Given the description of an element on the screen output the (x, y) to click on. 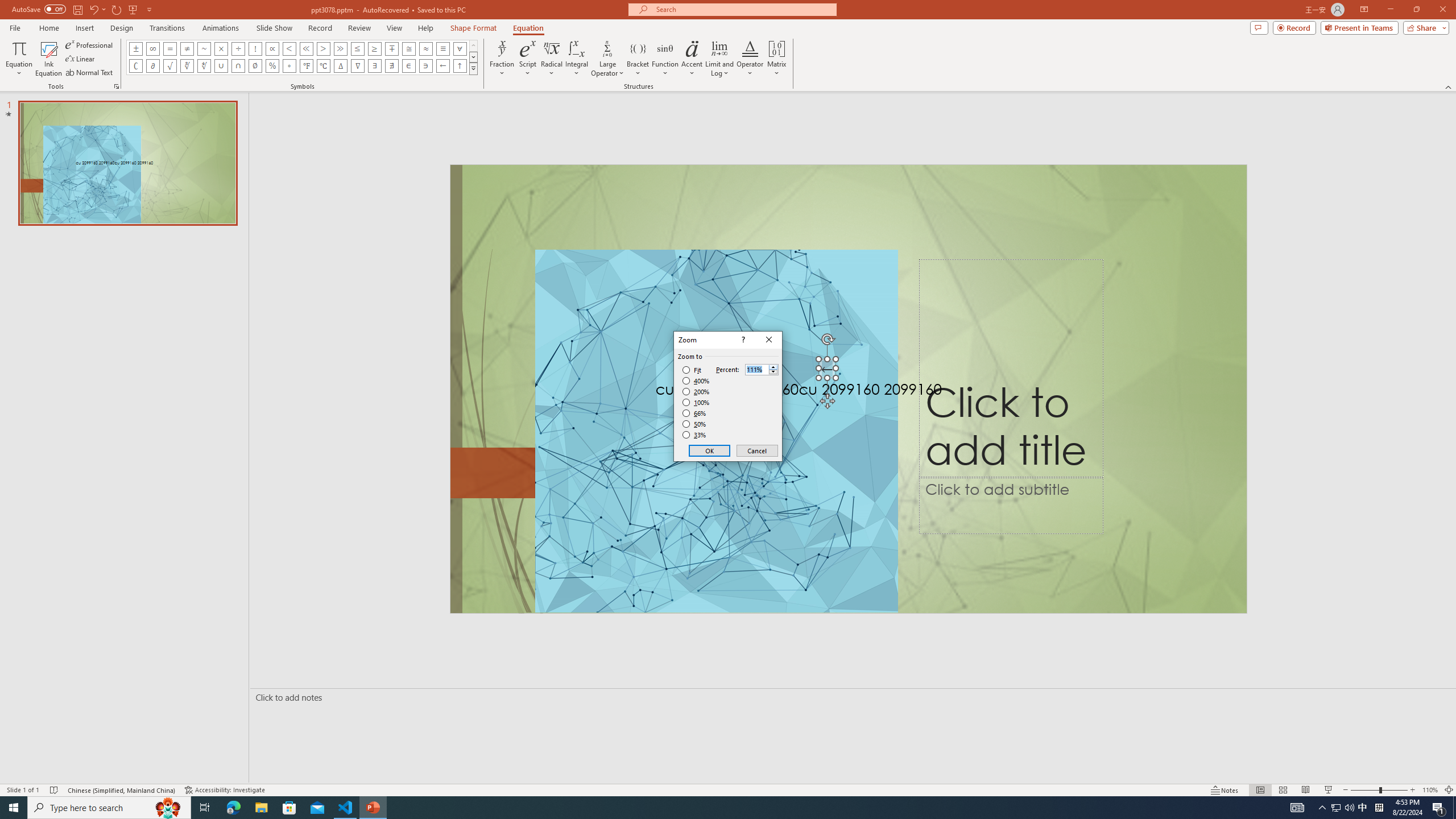
Equation Symbol Cube Root (187, 65)
Equation Symbol Percentage (272, 65)
66% (694, 412)
33% (694, 434)
Radical (552, 58)
Equation Symbol There Does Not Exist (391, 65)
Ink Equation (48, 58)
